Given the description of an element on the screen output the (x, y) to click on. 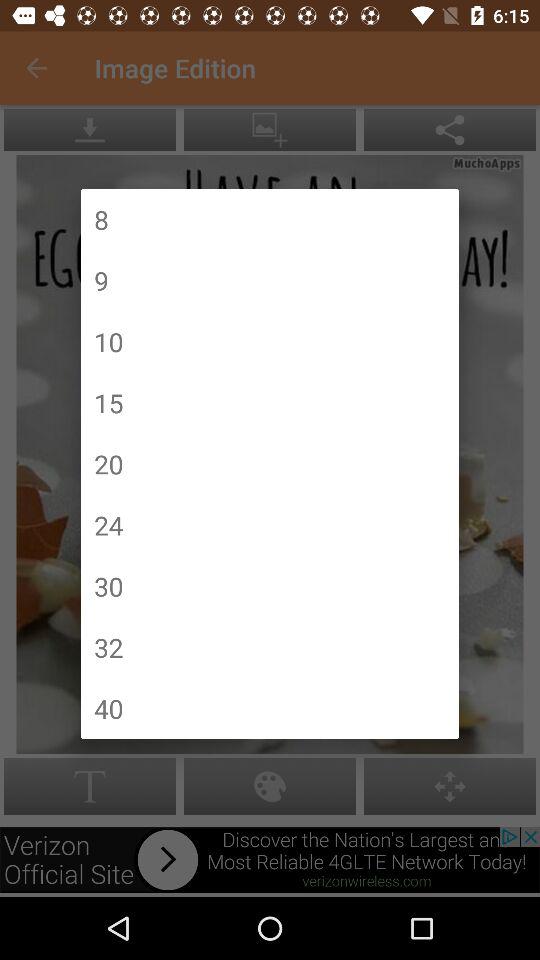
press item below 30 icon (108, 647)
